Given the description of an element on the screen output the (x, y) to click on. 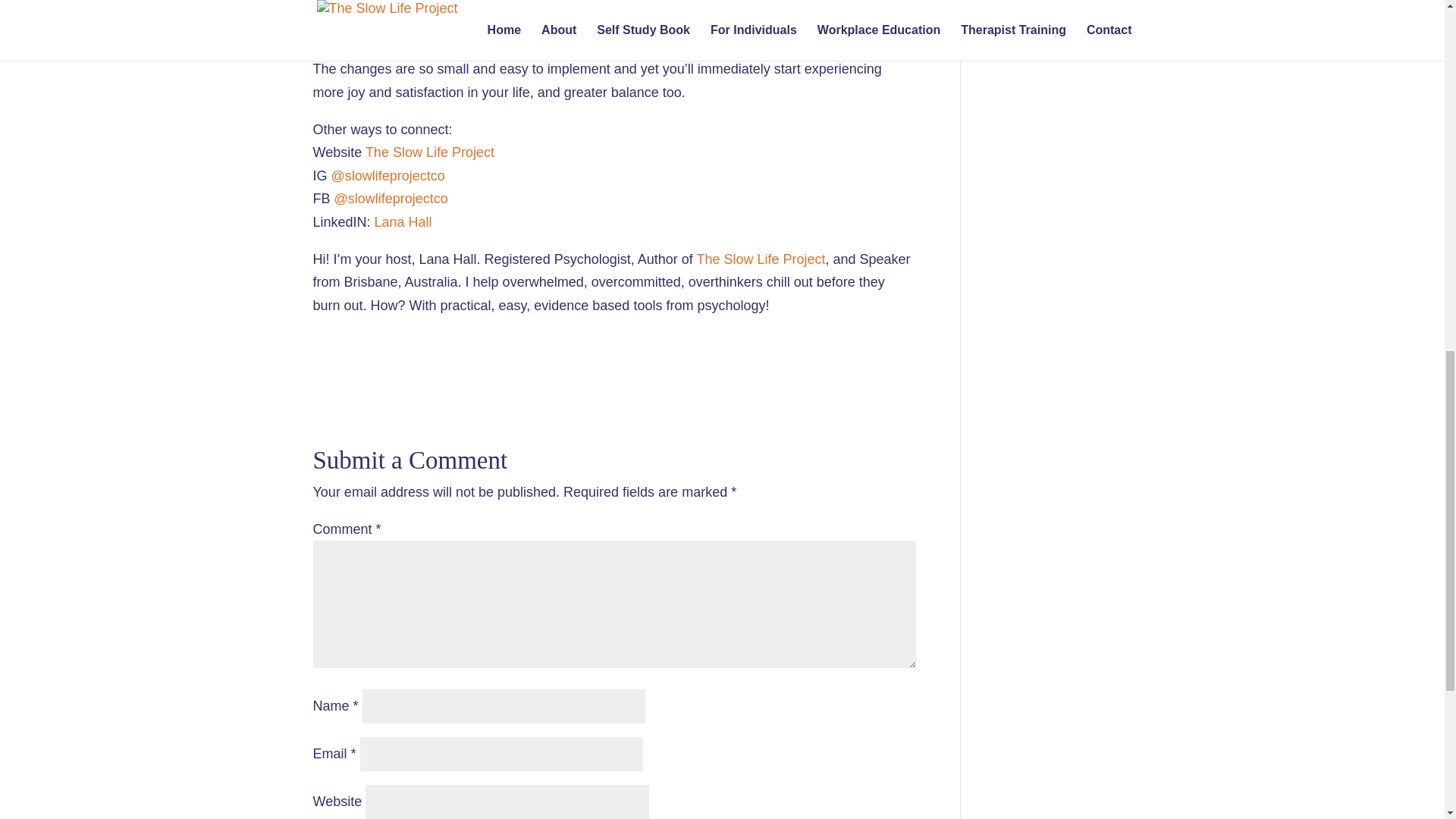
The Slow Life Project (760, 258)
The Slow Life Project (430, 151)
Lana Hall (403, 222)
